Given the description of an element on the screen output the (x, y) to click on. 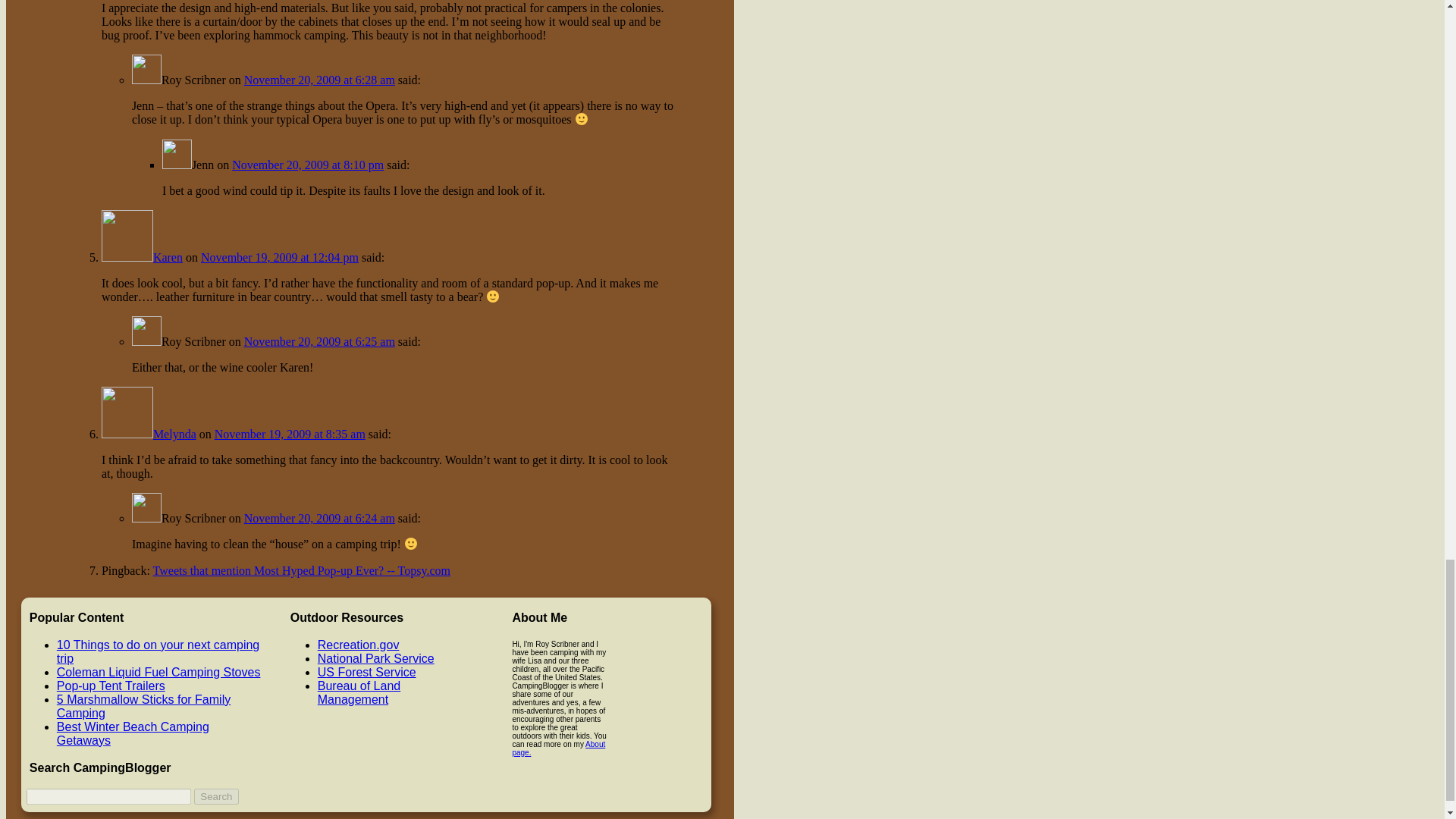
Search (215, 796)
